Given the description of an element on the screen output the (x, y) to click on. 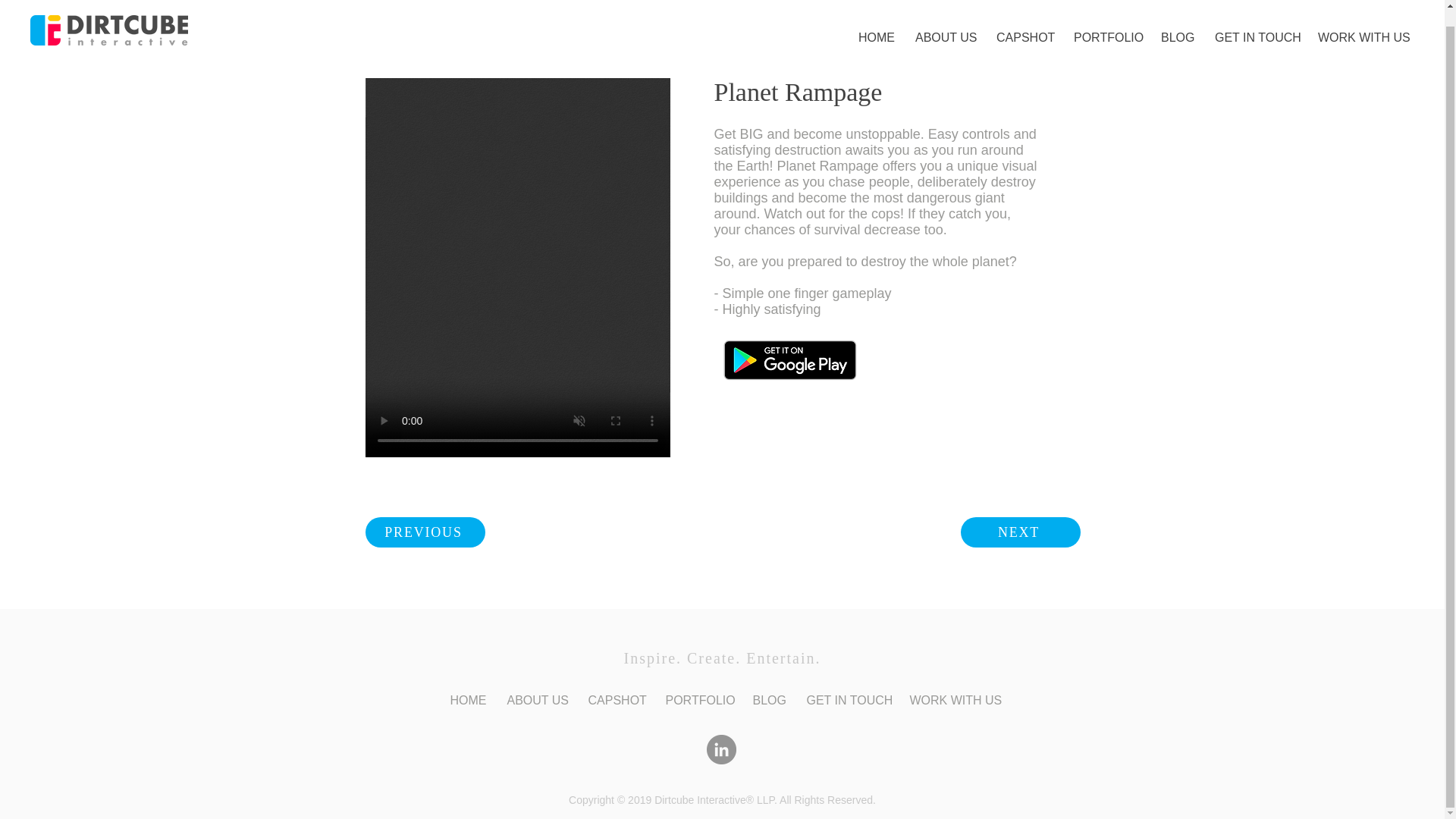
PREVIOUS (424, 531)
ABOUT US (536, 700)
HOME (466, 700)
ABOUT US (944, 21)
CAPSHOT (614, 700)
BLOG (1177, 21)
WORK WITH US (952, 700)
GET IN TOUCH (846, 700)
BLOG (767, 700)
CAPSHOT (1023, 21)
